Given the description of an element on the screen output the (x, y) to click on. 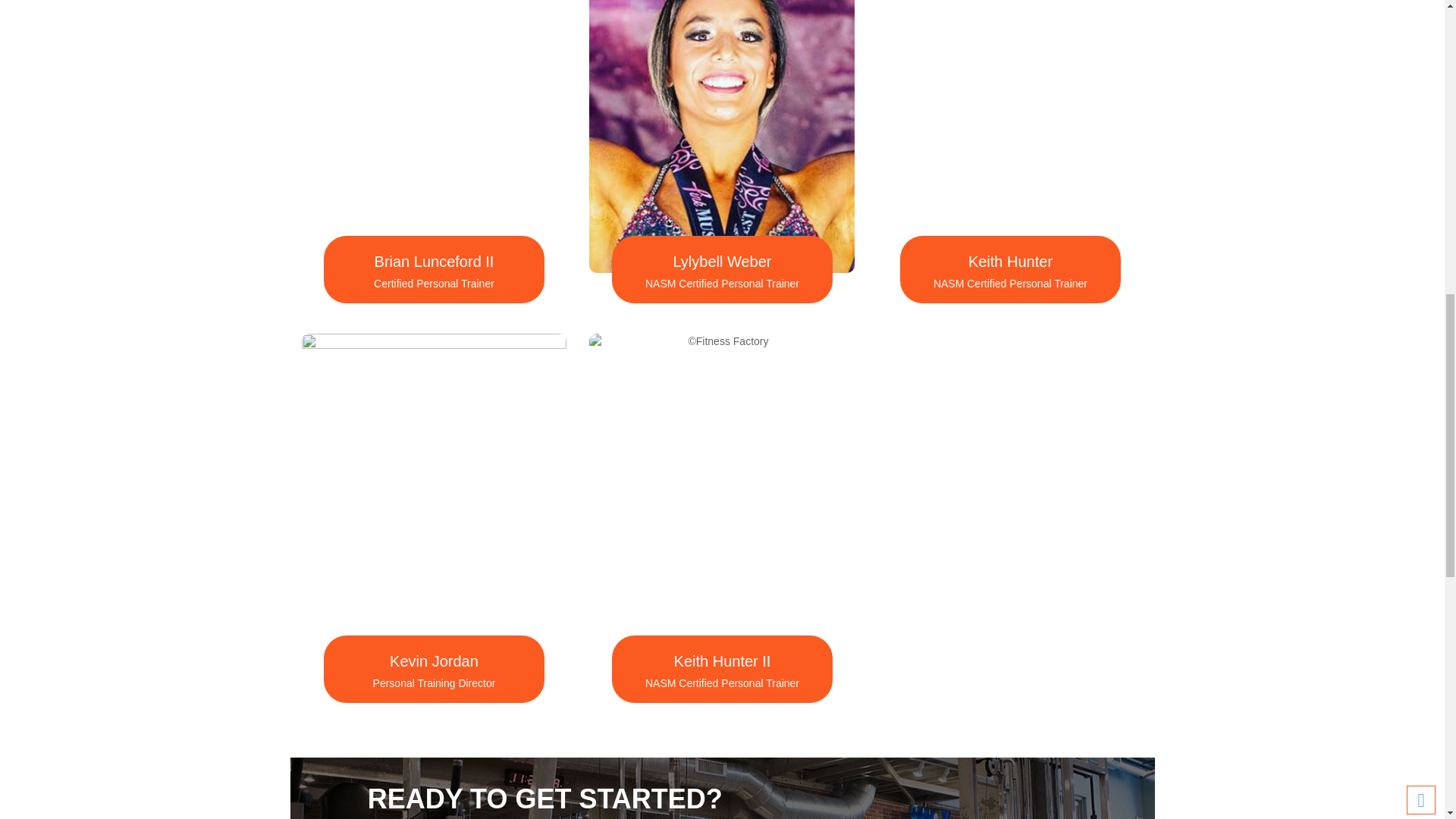
Brian Lunceford II (434, 261)
Keith Hunter (1010, 261)
Lylybell Weber (721, 261)
